Given the description of an element on the screen output the (x, y) to click on. 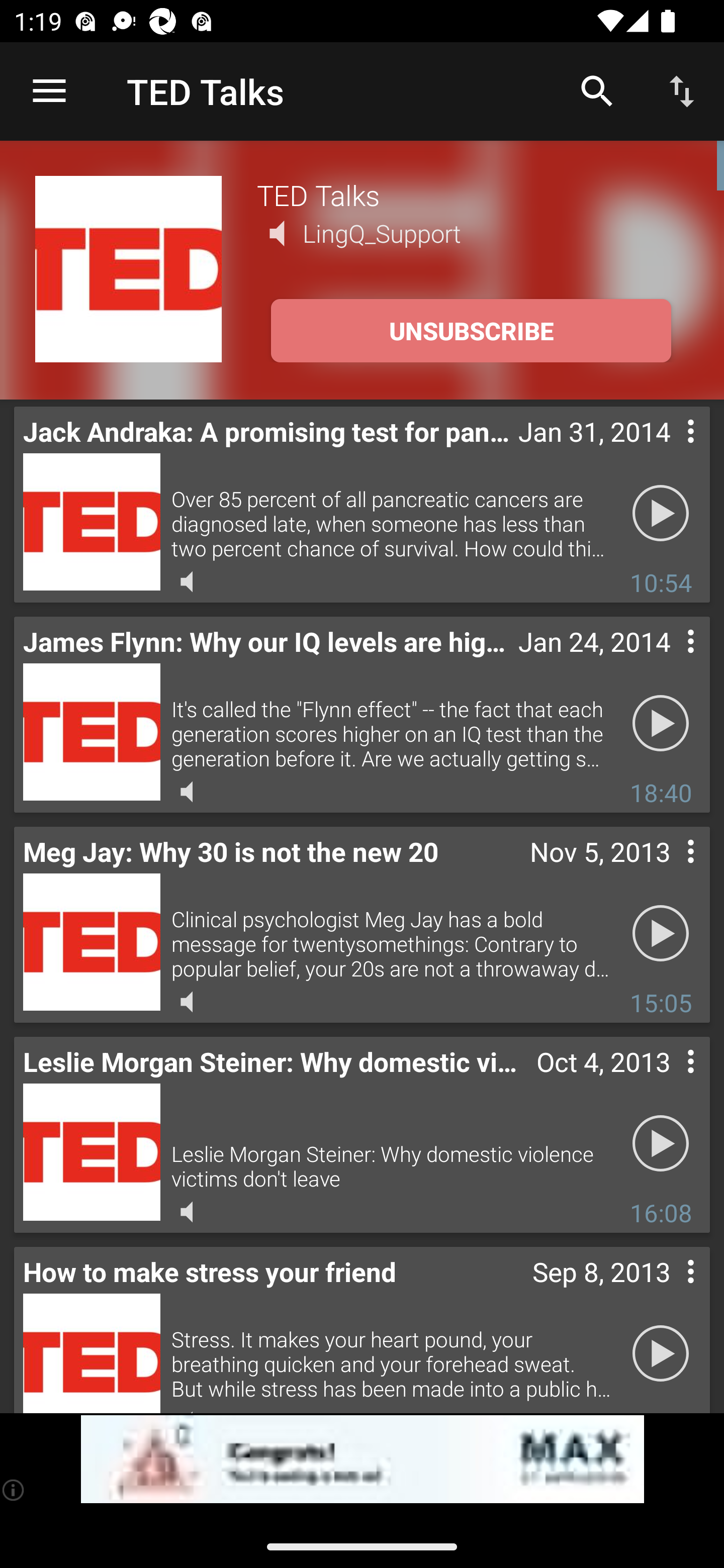
Open navigation sidebar (49, 91)
Search (597, 90)
Sort (681, 90)
UNSUBSCRIBE (470, 330)
Contextual menu (668, 451)
Play (660, 513)
Contextual menu (668, 661)
Play (660, 723)
Contextual menu (668, 870)
Play (660, 933)
Contextual menu (668, 1080)
Play (660, 1143)
Contextual menu (668, 1290)
Play (660, 1353)
app-monetization (362, 1459)
(i) (14, 1489)
